Given the description of an element on the screen output the (x, y) to click on. 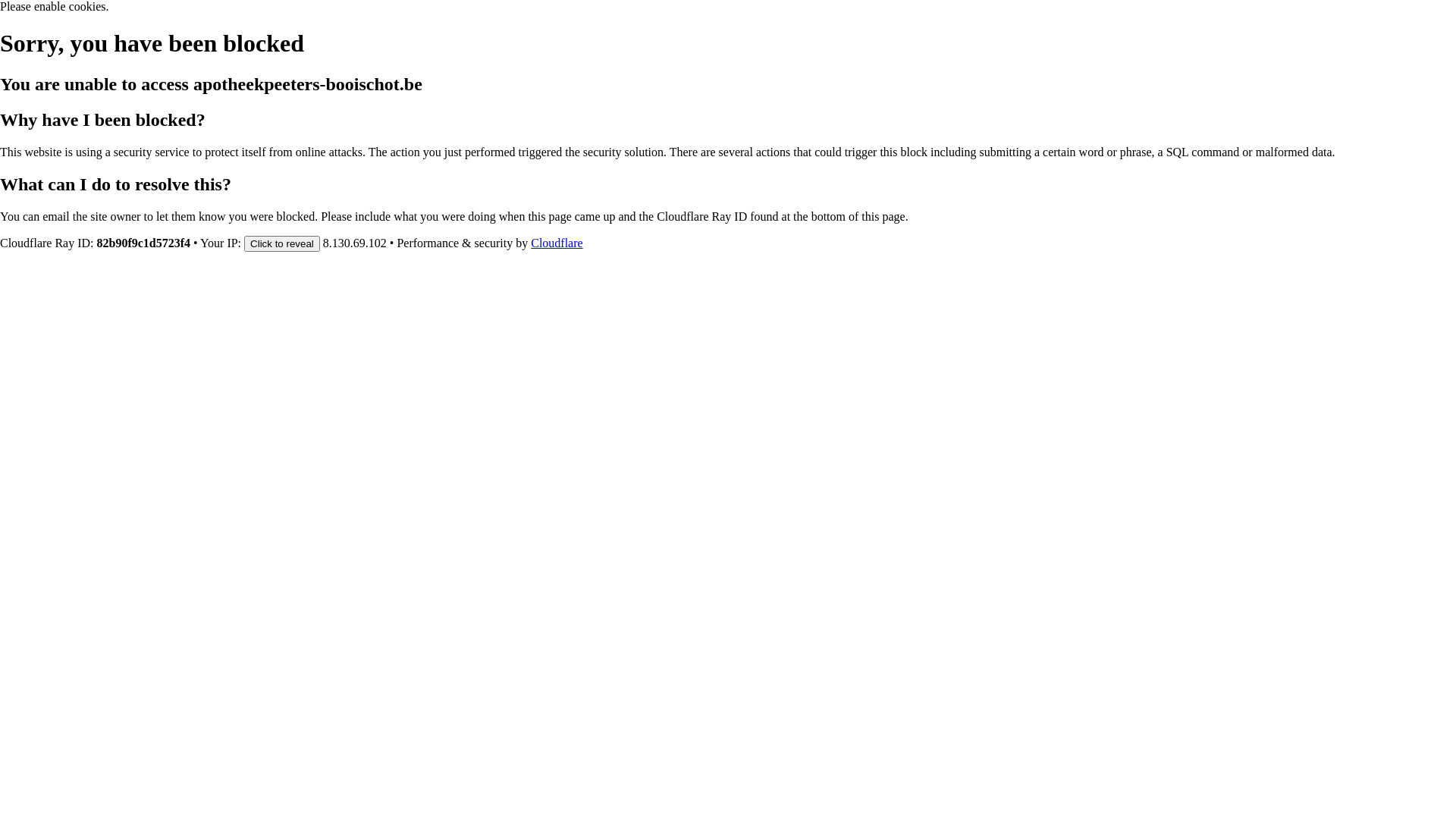
Click to reveal Element type: text (282, 243)
Cloudflare Element type: text (556, 242)
